Given the description of an element on the screen output the (x, y) to click on. 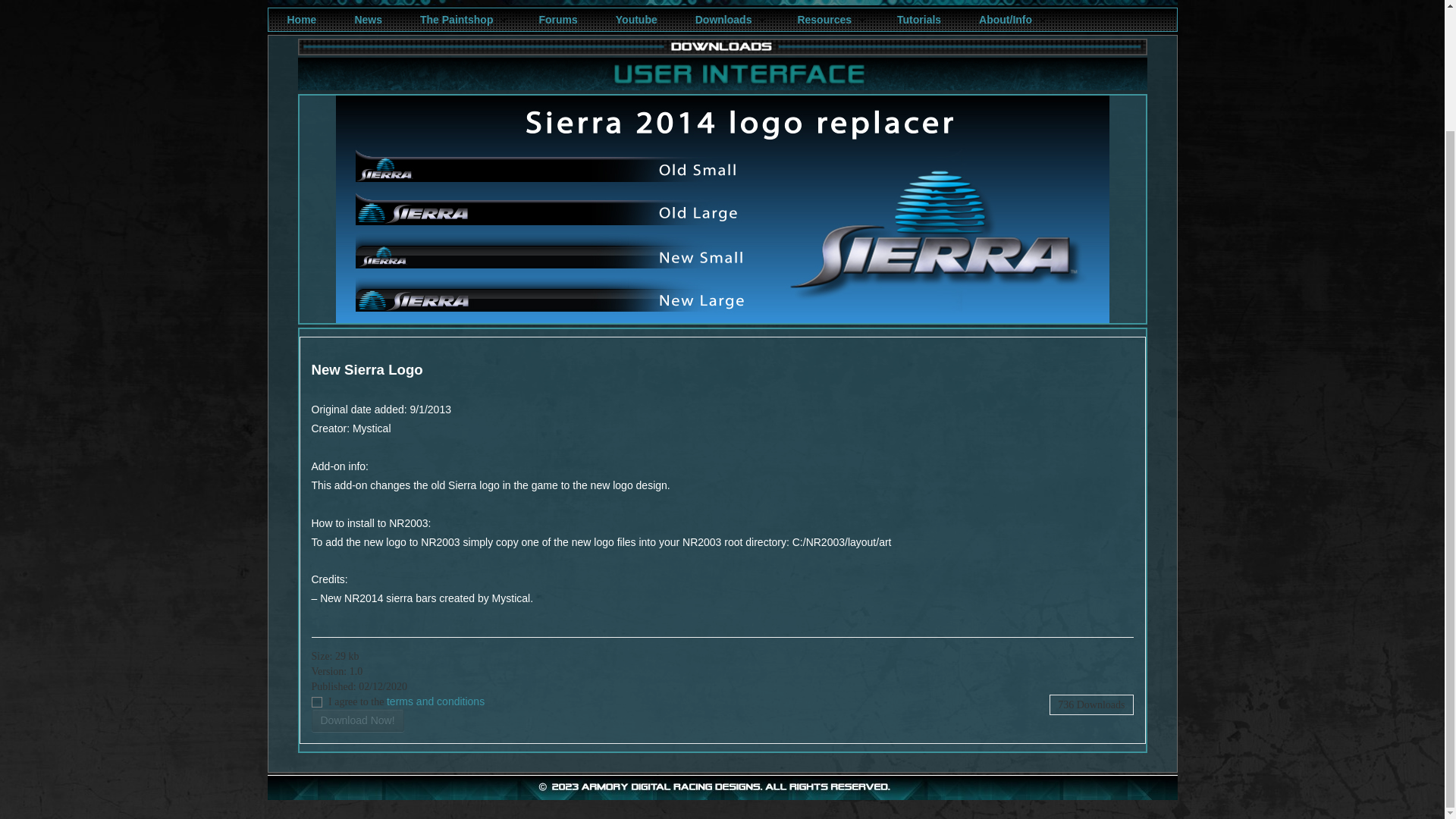
Resources (828, 19)
Forums (557, 19)
News (368, 19)
Youtube (635, 19)
Home (300, 19)
Downloads (726, 19)
The Paintshop (459, 19)
